Given the description of an element on the screen output the (x, y) to click on. 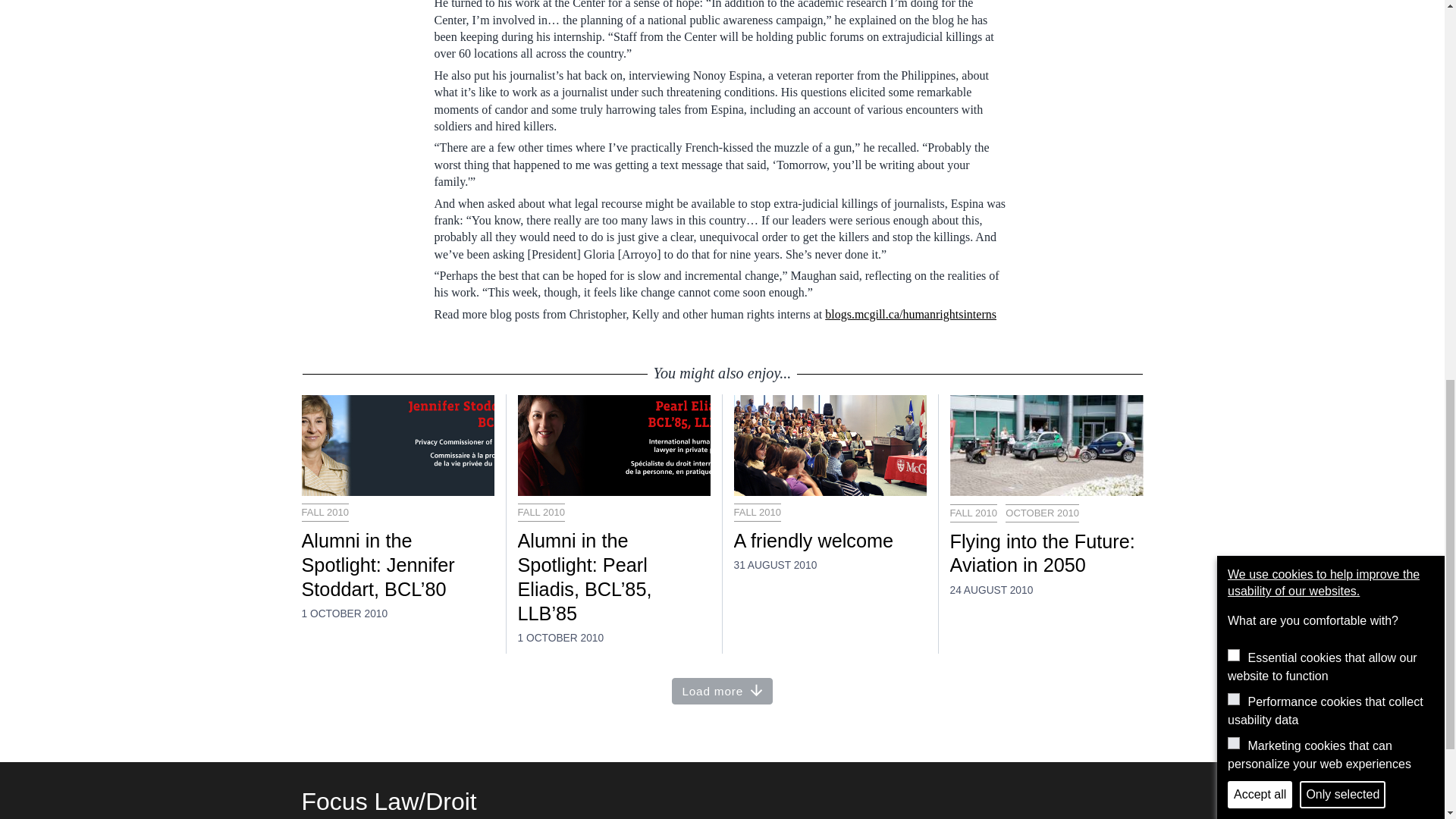
A friendly welcome (829, 541)
Flying into the Future: Aviation in 2050 (1045, 553)
FALL 2010 (325, 512)
FALL 2010 (540, 512)
OCTOBER 2010 (1042, 513)
FALL 2010 (756, 512)
Home (389, 800)
FALL 2010 (972, 513)
Load more (722, 691)
